Given the description of an element on the screen output the (x, y) to click on. 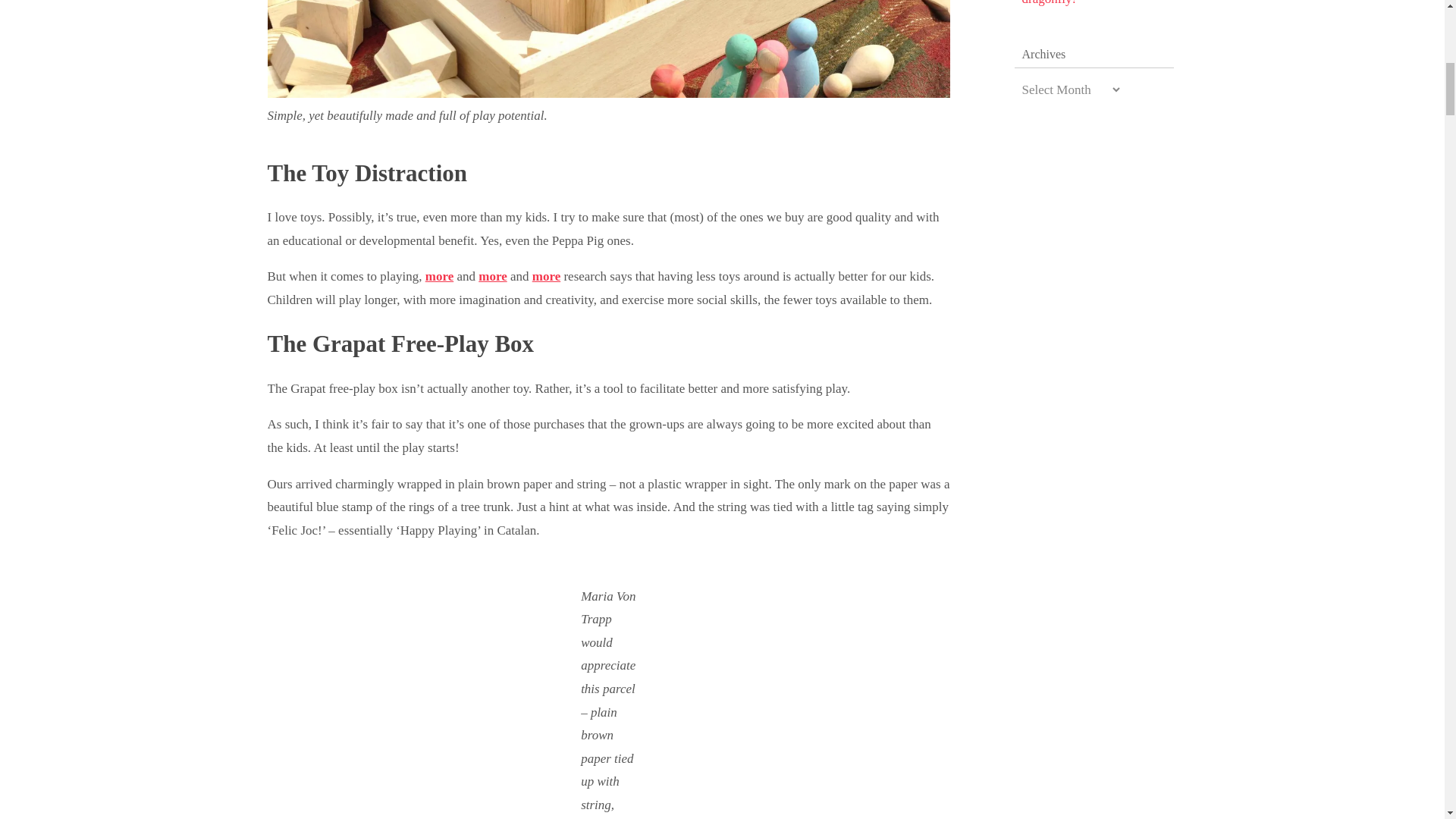
more (438, 276)
more (546, 276)
more (492, 276)
